Given the description of an element on the screen output the (x, y) to click on. 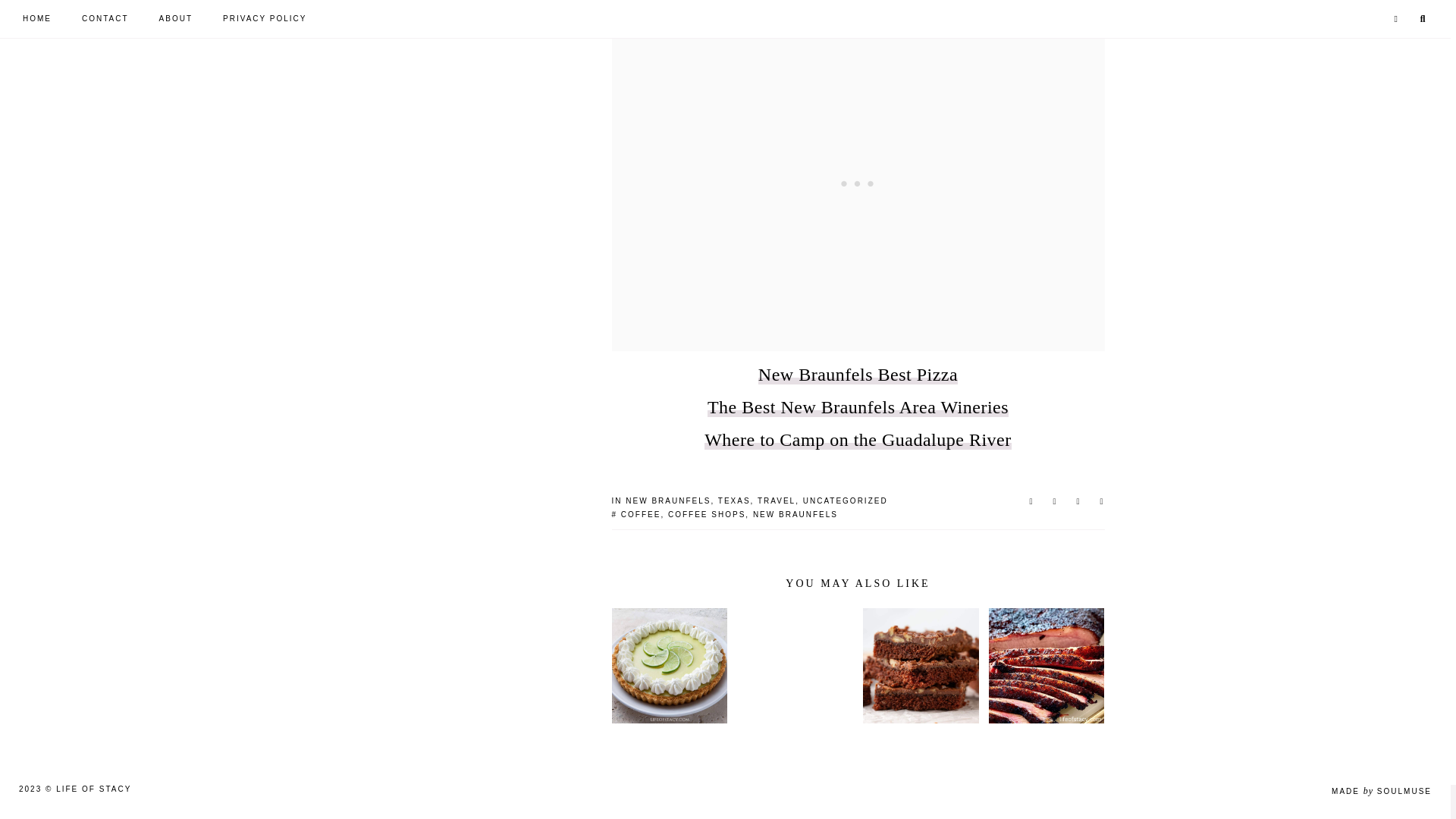
The Best Texas Sheet Cake EVER (920, 665)
The Best Summer Sangria Recipe (793, 665)
How to Smoke the Best Brisket: A Step-by-Step Guide (1045, 665)
New Braunfels Best Pizza (858, 374)
The Ultimate Key Lime Pie Recipe (668, 665)
Where to Camp on the Guadalupe River (857, 439)
The Best New Braunfels Area Wineries (858, 406)
